Given the description of an element on the screen output the (x, y) to click on. 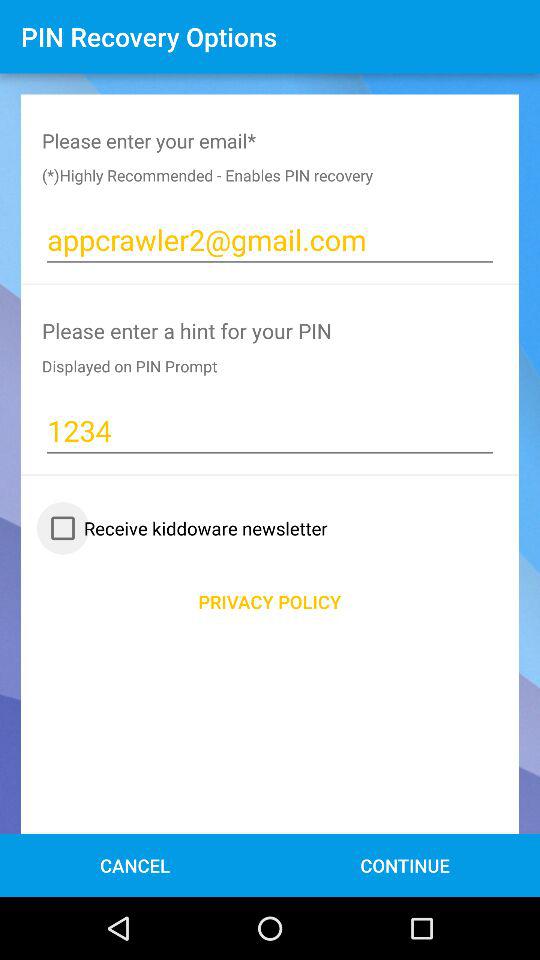
press cancel at the bottom left corner (134, 864)
